Given the description of an element on the screen output the (x, y) to click on. 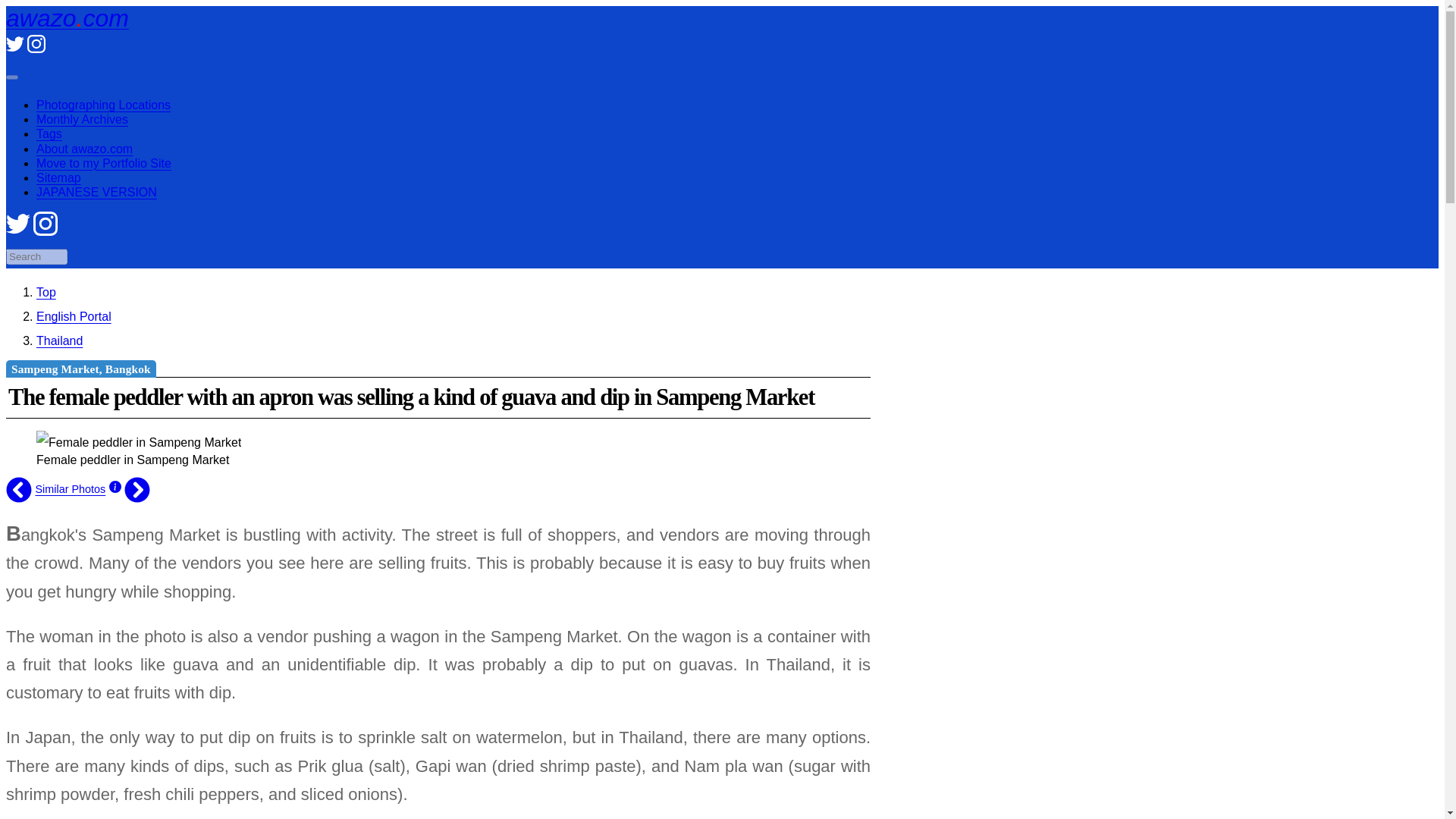
Photo Information (114, 489)
Monthly Archives (82, 119)
About awazo.com (84, 148)
Twitter (14, 48)
Instagram (36, 48)
Thailand (59, 340)
English Portal (74, 316)
Sitemap (58, 177)
Move to my Portfolio Site (103, 163)
Instagram (45, 231)
JAPANESE VERSION (96, 192)
Related Photos (69, 489)
Tags (49, 133)
awazo.com (67, 17)
Twitter (17, 231)
